Given the description of an element on the screen output the (x, y) to click on. 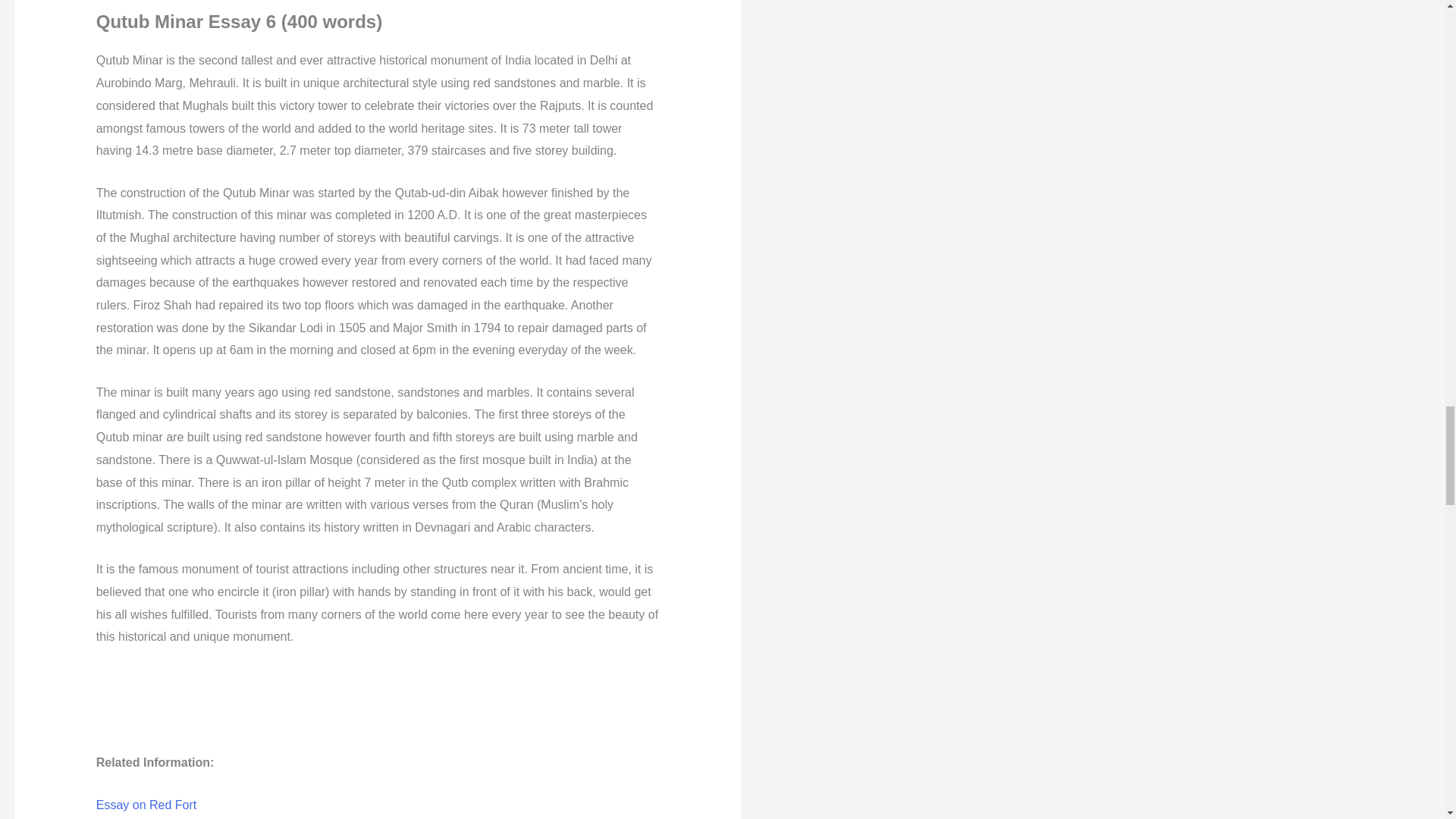
Essay on Red Fort (146, 804)
